Given the description of an element on the screen output the (x, y) to click on. 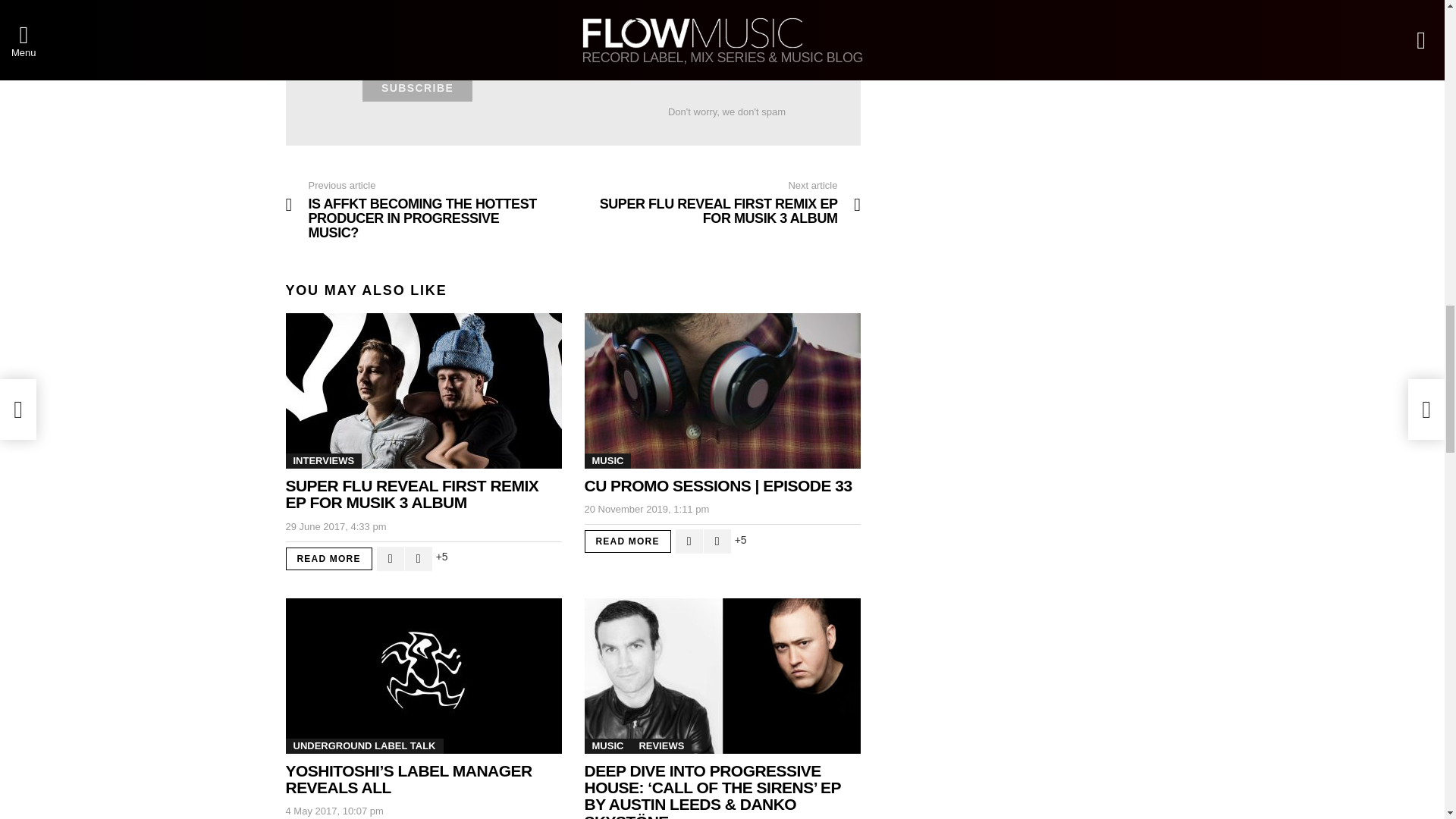
SUBSCRIBE (416, 87)
1 (548, 44)
Upvote (390, 558)
Super Flu Reveal First Remix EP For Musik 3 Album (422, 390)
